Given the description of an element on the screen output the (x, y) to click on. 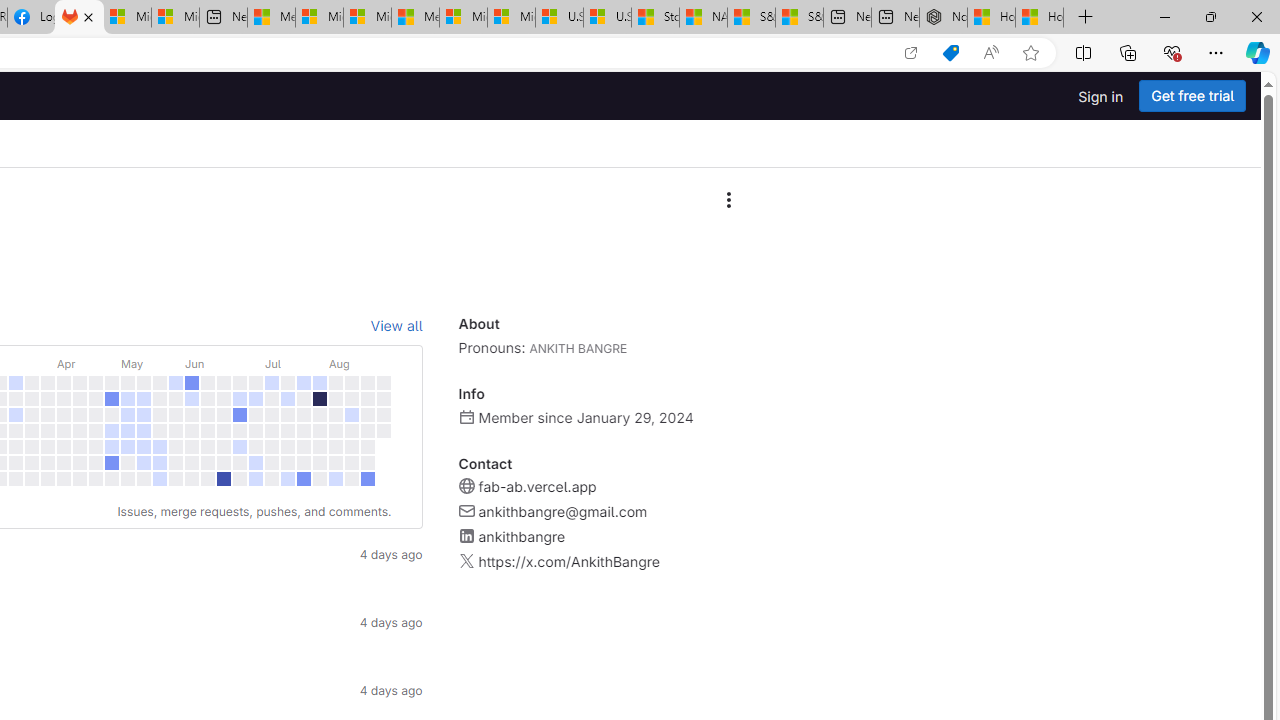
Microsoft account | Privacy (319, 17)
ankithbangre@gmail.com (562, 511)
Open in app (910, 53)
